Given the description of an element on the screen output the (x, y) to click on. 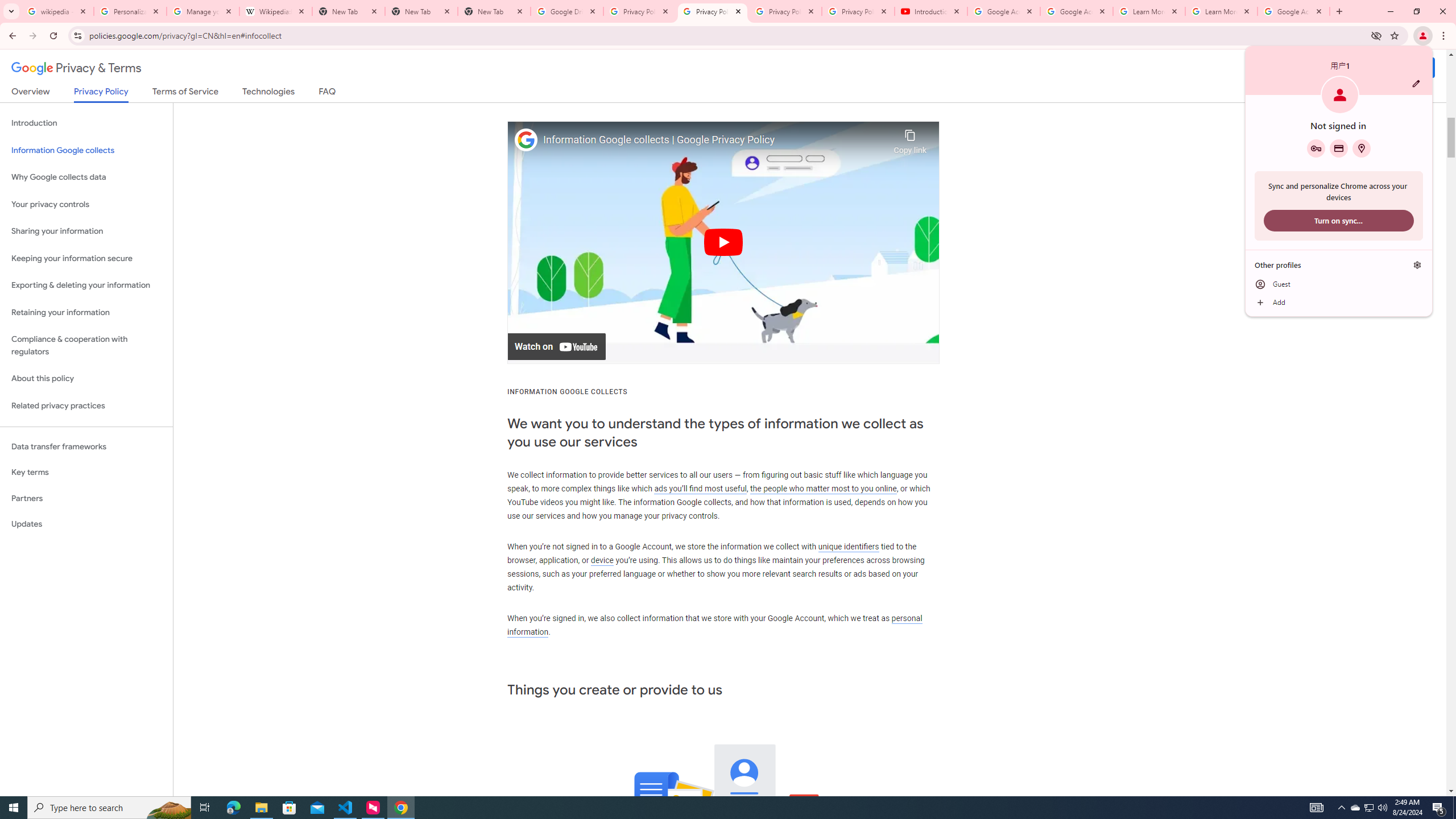
AutomationID: 4105 (1316, 807)
Microsoft Edge (233, 807)
Wikipedia:Edit requests - Wikipedia (275, 11)
Updates (86, 524)
Information Google collects | Google Privacy Policy (715, 140)
device (601, 560)
the people who matter most to you online (822, 488)
Related privacy practices (86, 405)
Google Chrome - 1 running window (400, 807)
Copy link (909, 139)
Key terms (86, 472)
